Given the description of an element on the screen output the (x, y) to click on. 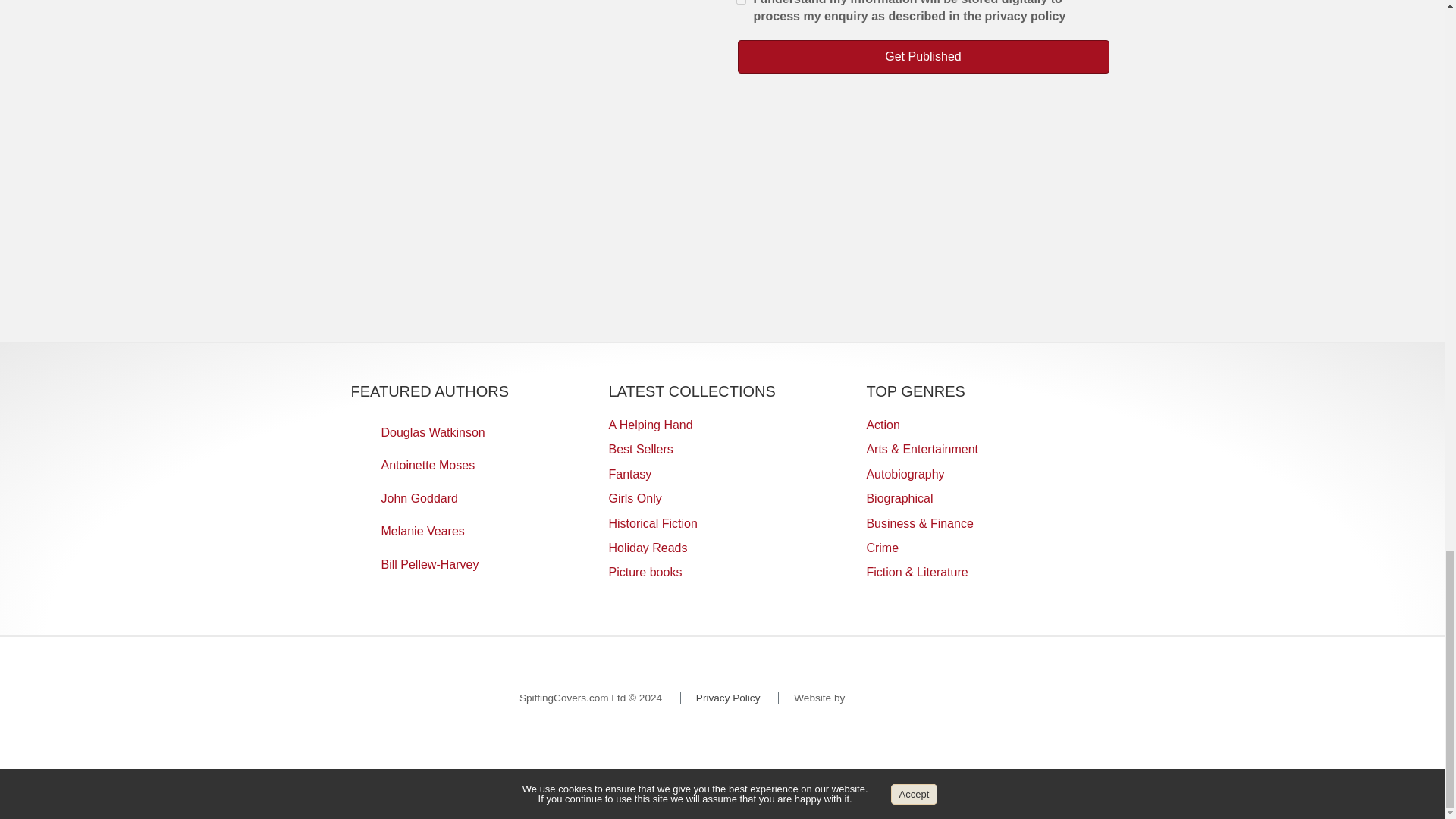
1 (740, 4)
